Given the description of an element on the screen output the (x, y) to click on. 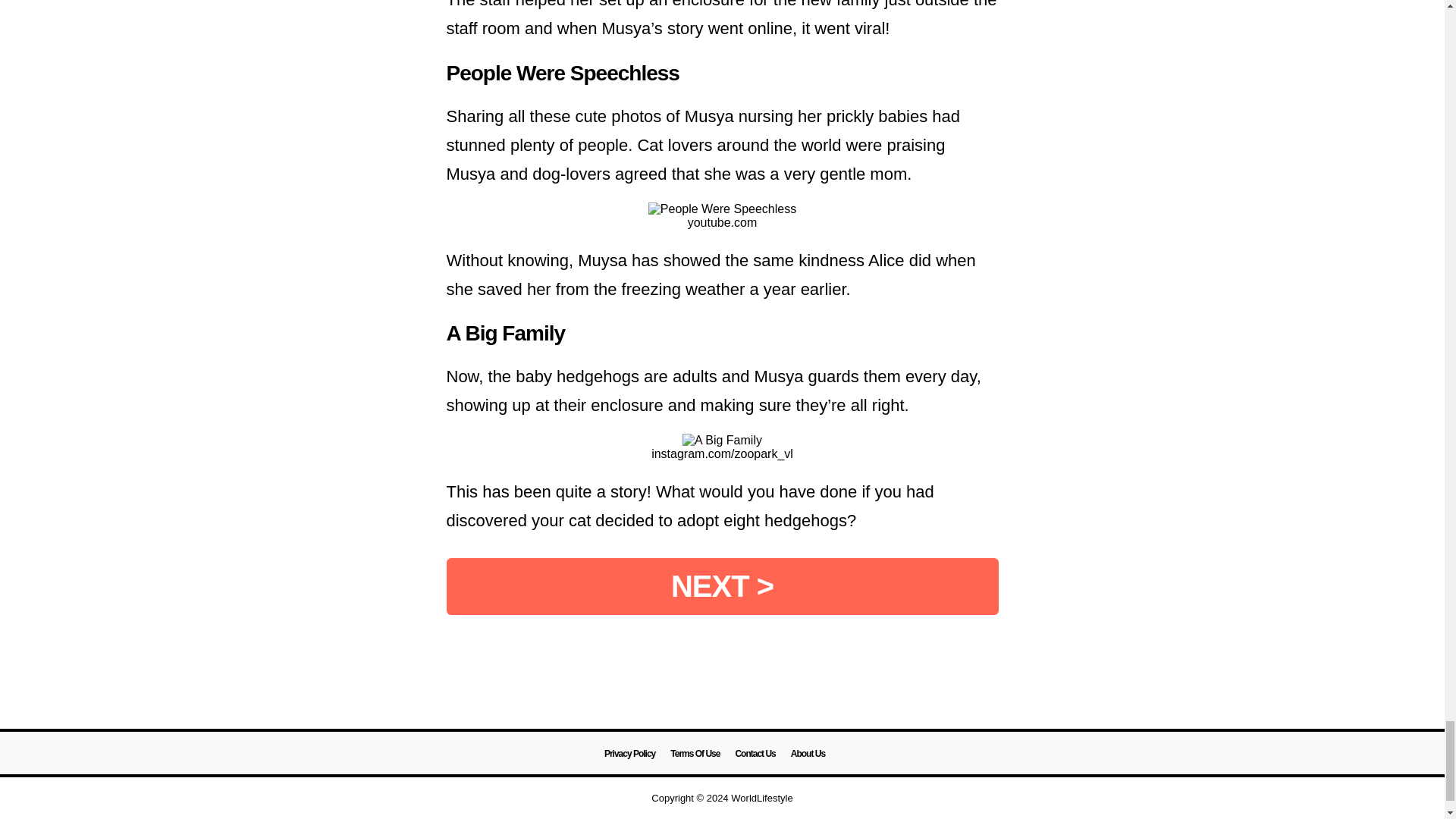
Contact Us (754, 753)
Privacy Policy (629, 753)
About Us (807, 753)
Terms Of Use (694, 753)
